Given the description of an element on the screen output the (x, y) to click on. 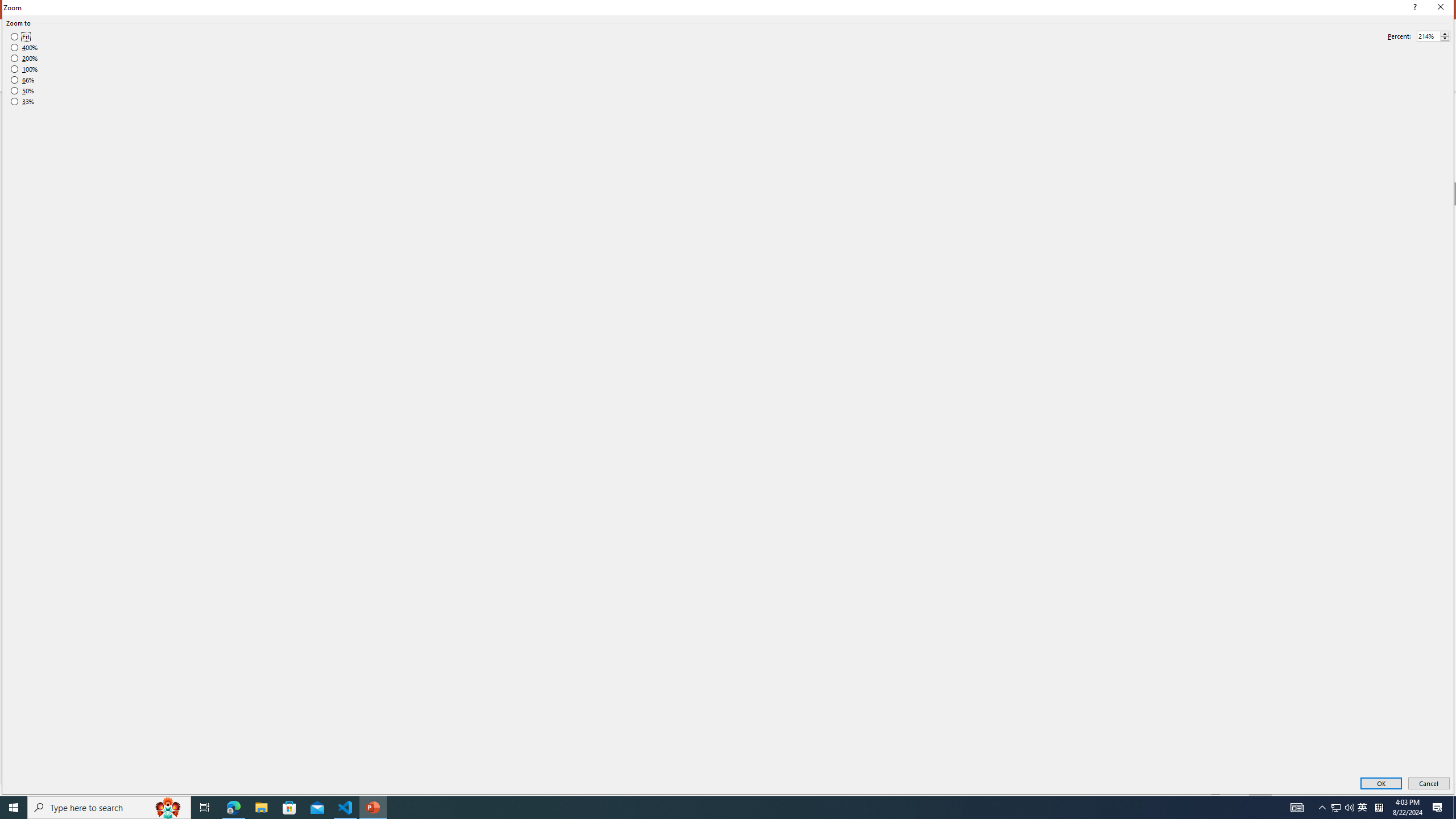
OK (1380, 783)
33% (22, 101)
Percent (1427, 36)
More (1444, 33)
66% (22, 79)
Less (1444, 38)
Percent (1433, 36)
Fit (20, 36)
100% (24, 68)
400% (24, 47)
Context help (1413, 8)
200% (24, 58)
Cancel (1428, 783)
50% (22, 90)
